Given the description of an element on the screen output the (x, y) to click on. 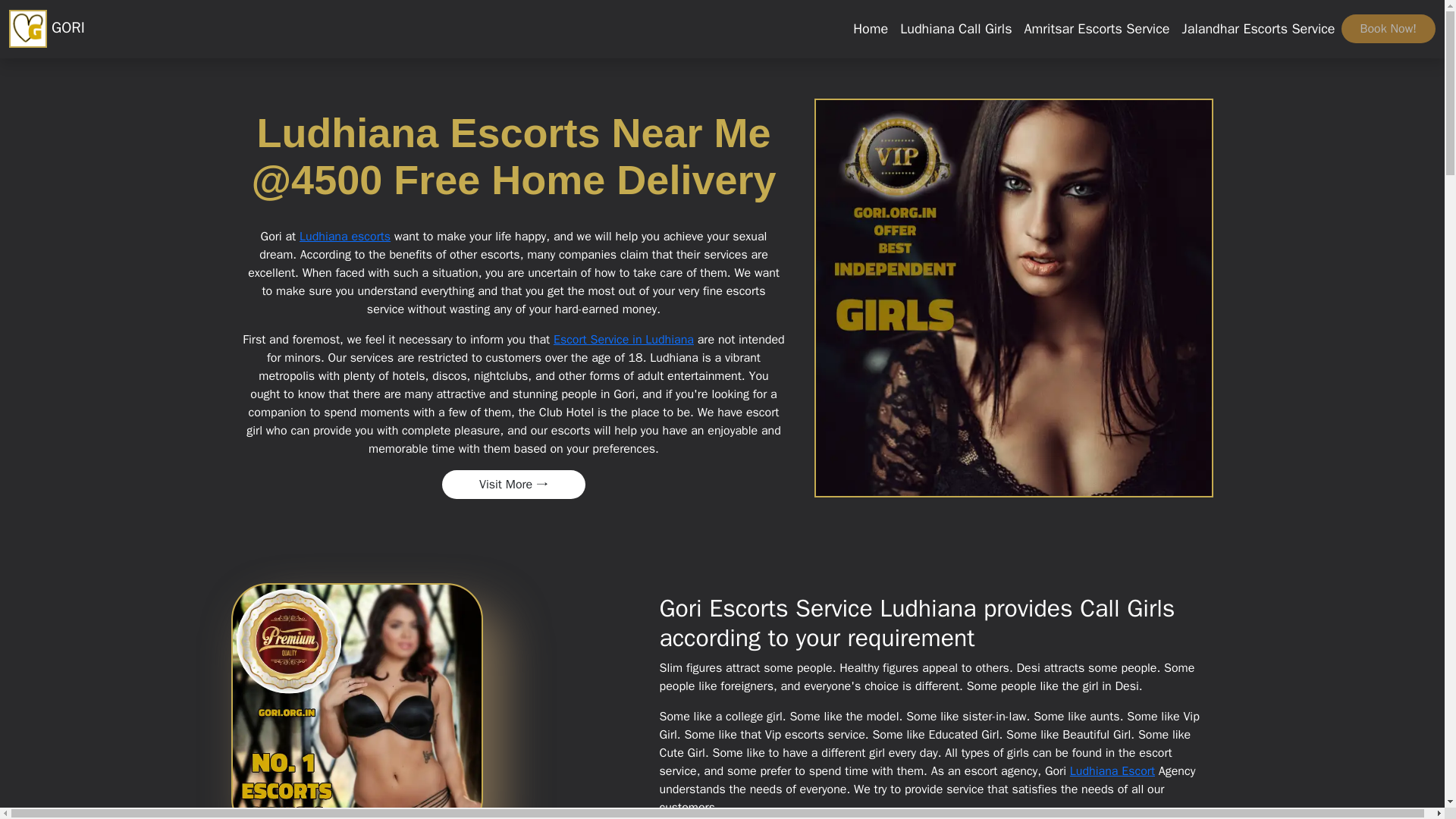
Escort Service in Ludhiana (623, 339)
Book Now! (1387, 28)
Amritsar Escorts Service (1096, 28)
Jalandhar Escorts Service (1258, 28)
Ludhiana Escort (1112, 770)
Ludhiana Call Girls (955, 28)
Home (870, 28)
GORI (46, 28)
Ludhiana escorts (344, 236)
